Given the description of an element on the screen output the (x, y) to click on. 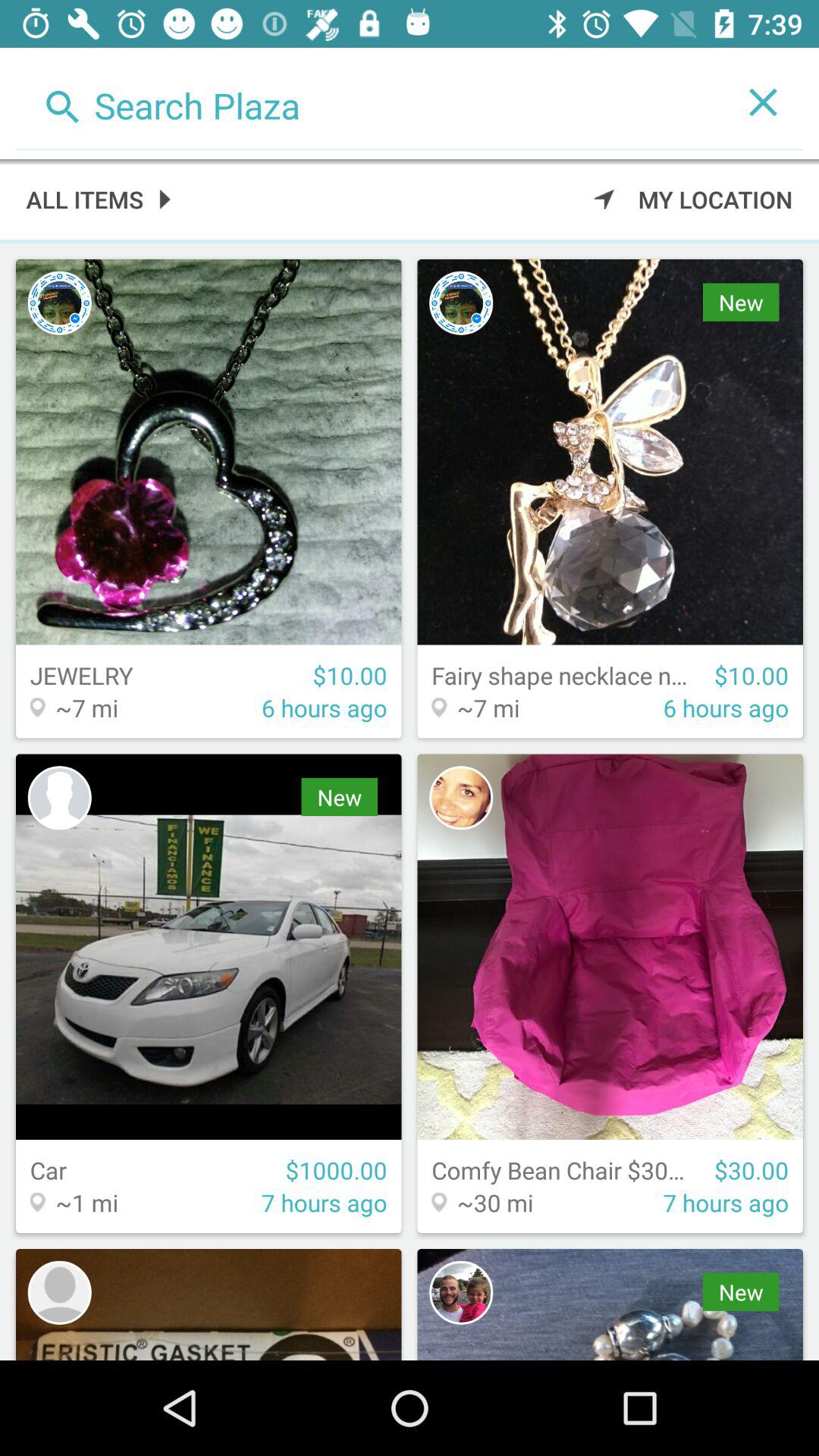
turn off the item above the my location icon (763, 102)
